Given the description of an element on the screen output the (x, y) to click on. 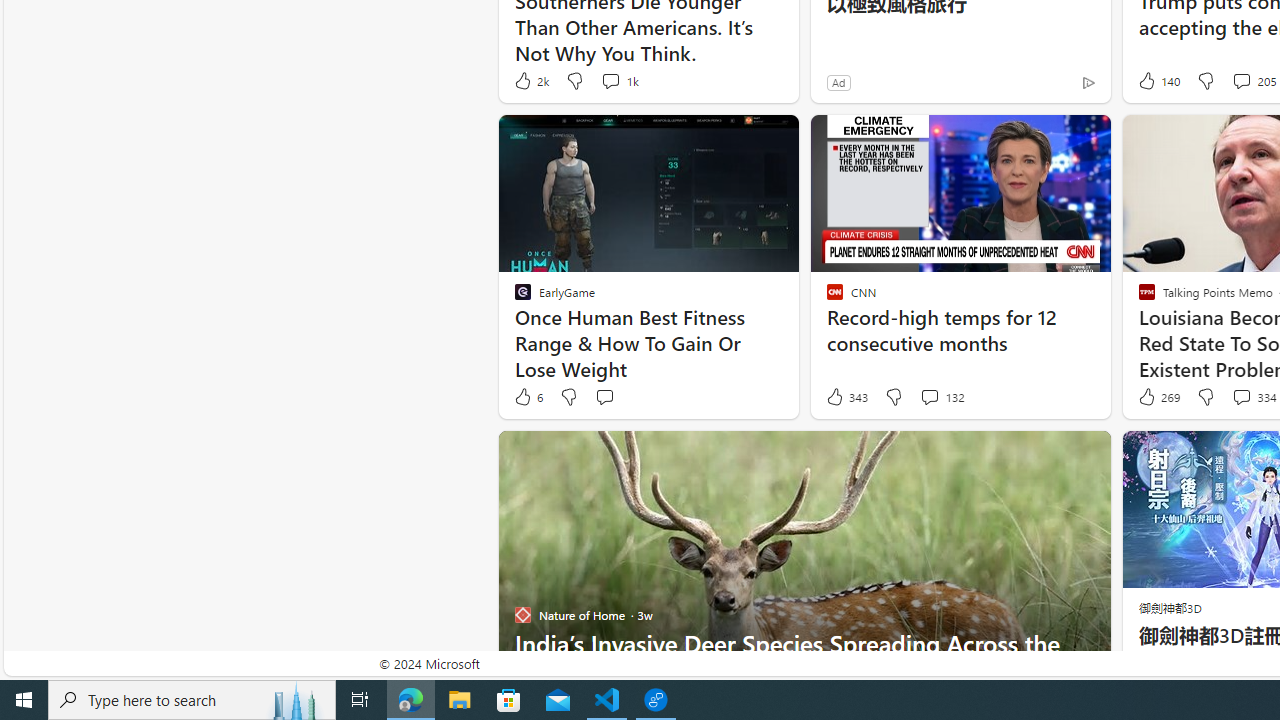
269 Like (1157, 397)
2k Like (530, 80)
View comments 132 Comment (929, 396)
